Given the description of an element on the screen output the (x, y) to click on. 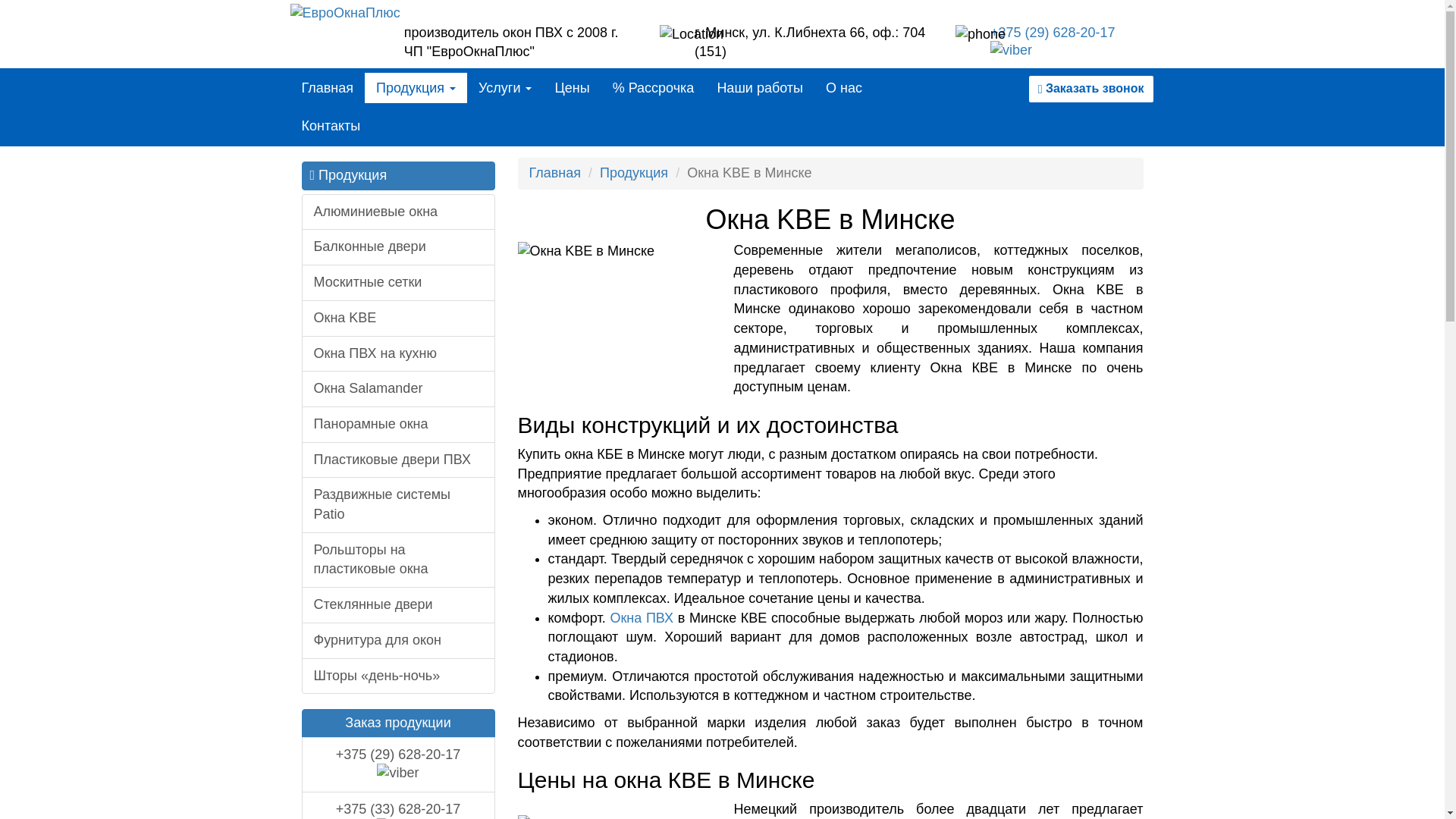
+375 (29) 628-20-17 Element type: text (398, 764)
+375 (29) 628-20-17 Element type: text (1052, 42)
